Given the description of an element on the screen output the (x, y) to click on. 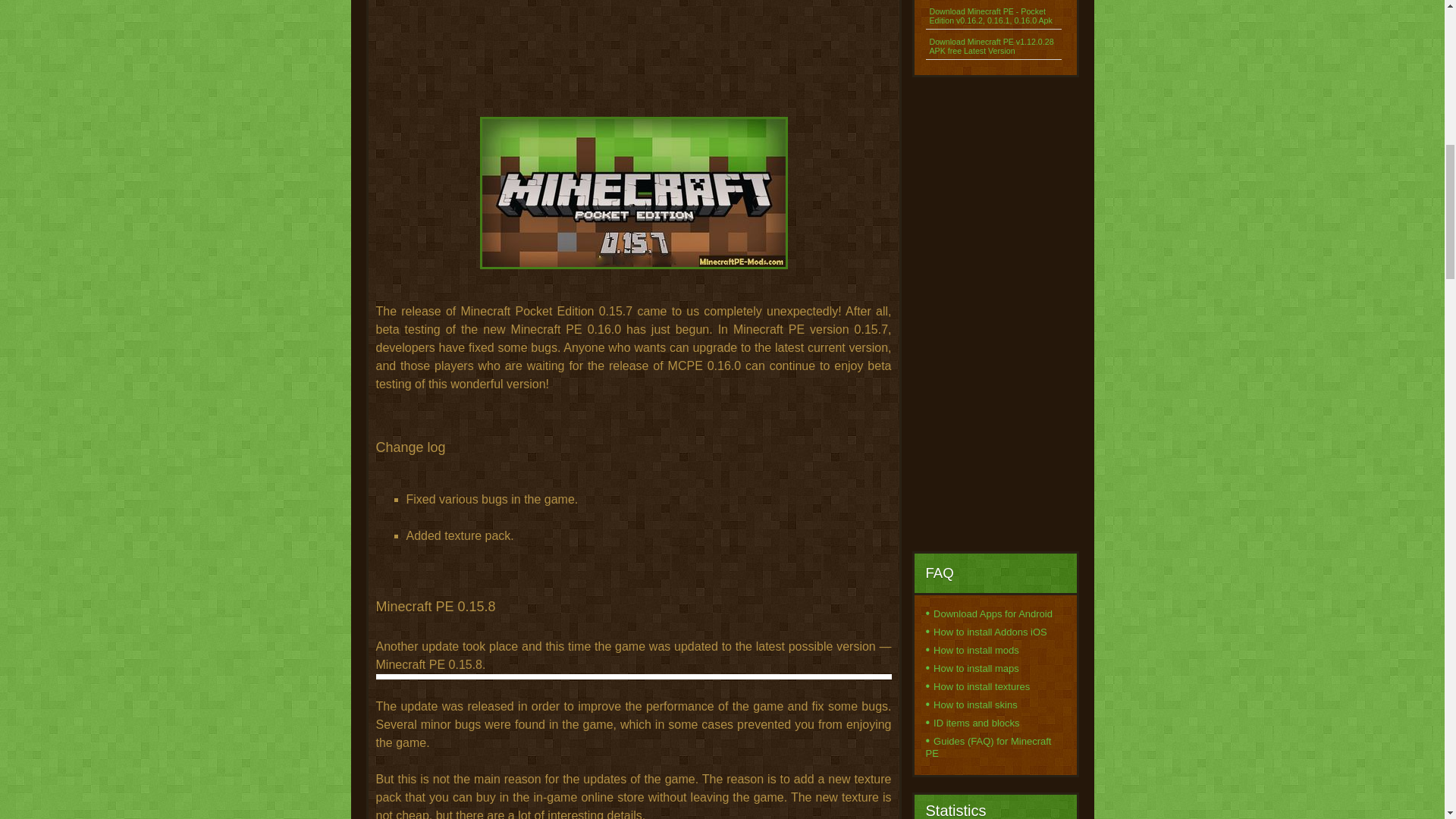
Download Minecraft PE - Pocket Edition 0.15.8, 0.15.7 (633, 193)
Click to view in full size... (633, 208)
